Given the description of an element on the screen output the (x, y) to click on. 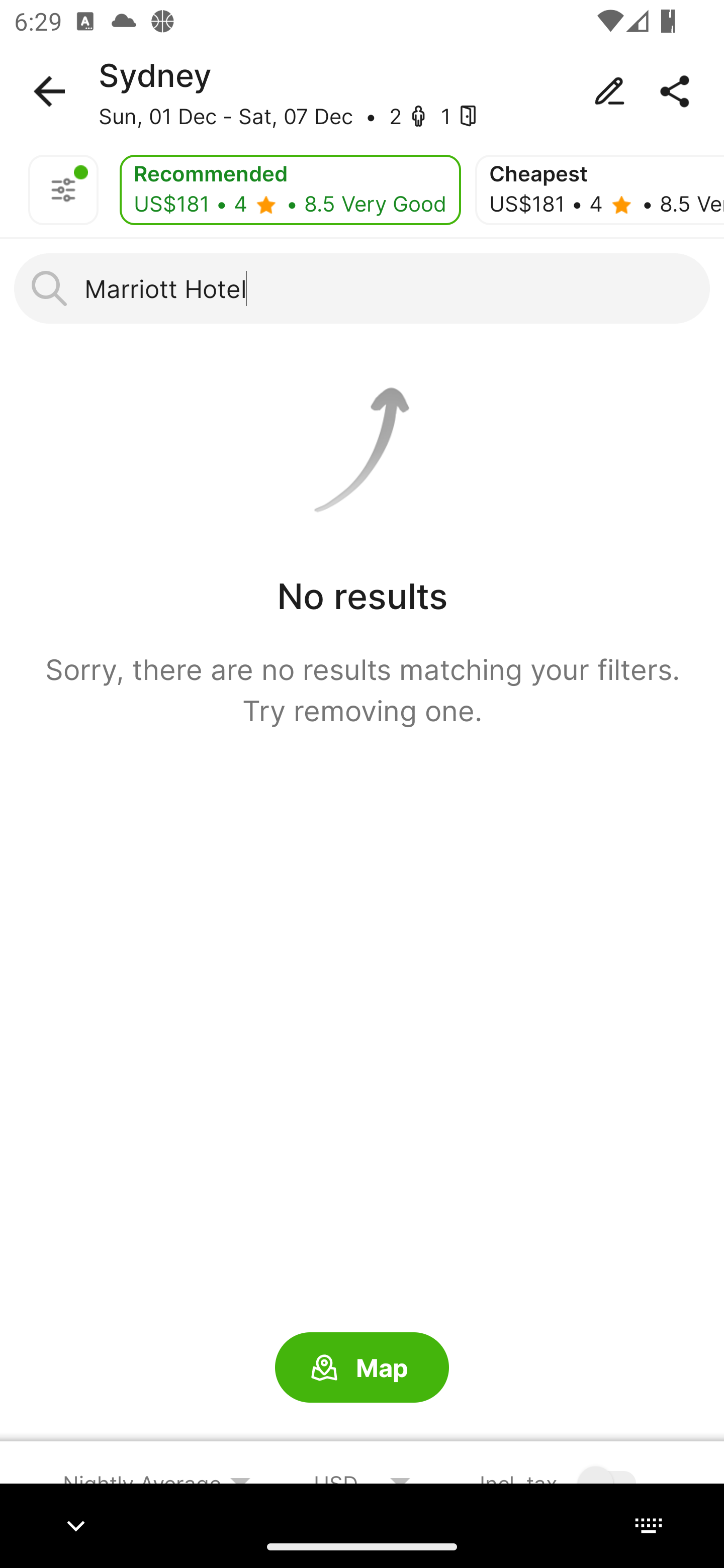
Sydney Sun, 01 Dec - Sat, 07 Dec  •  2 -  1 - (361, 91)
Recommended  US$181  • 4 - • 8.5 Very Good (290, 190)
Cheapest US$181  • 4 - • 8.5 Very Good (599, 190)
Marriott Hotel (361, 288)
Map  (361, 1367)
